Given the description of an element on the screen output the (x, y) to click on. 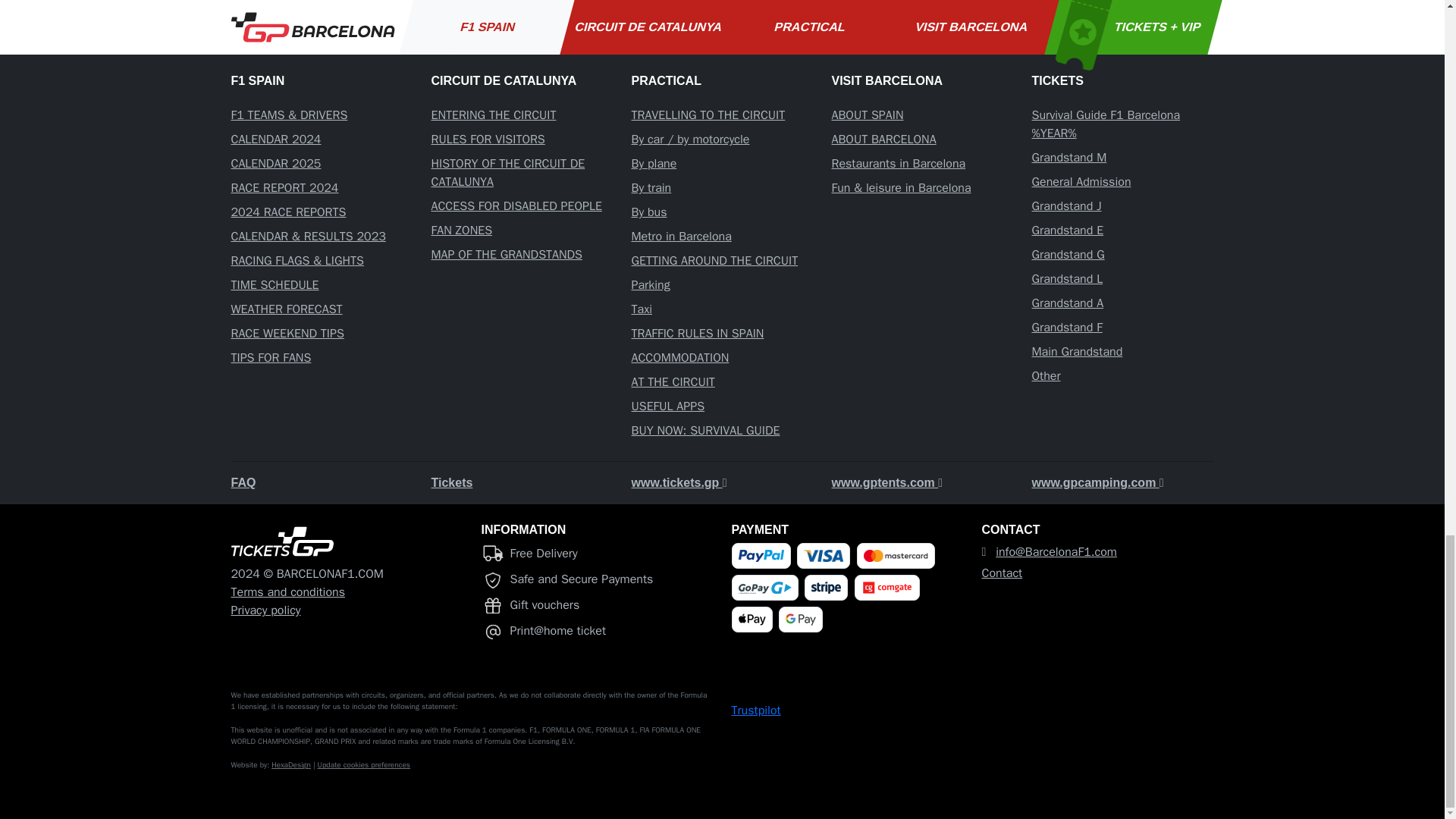
RACE REPORT 2024 (283, 187)
2024 RACE REPORTS (288, 212)
CALENDAR 2025 (275, 163)
CALENDAR 2024 (275, 139)
